Given the description of an element on the screen output the (x, y) to click on. 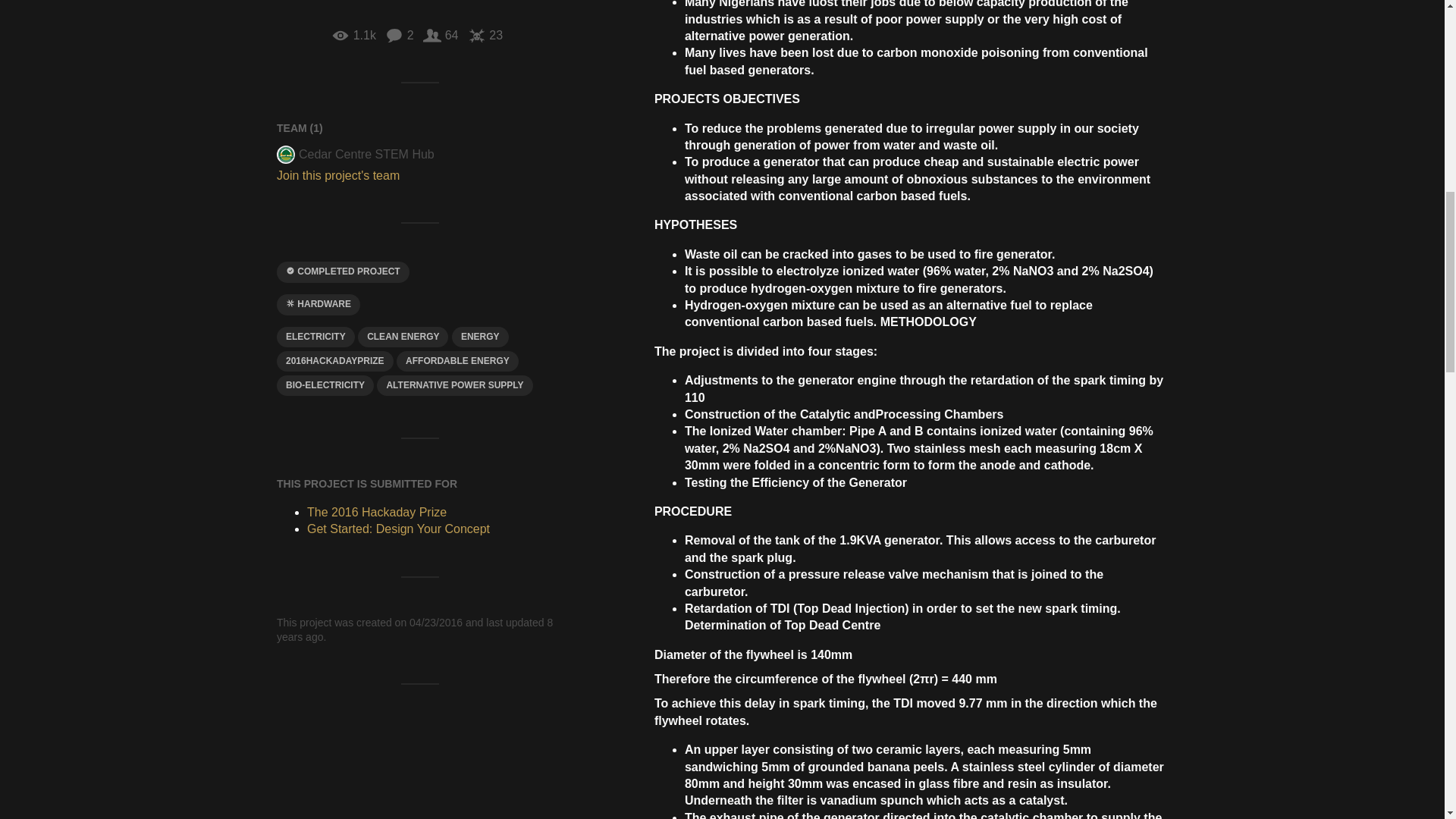
Likes (484, 34)
View Count (353, 34)
Followers (440, 34)
Comments (399, 34)
